Given the description of an element on the screen output the (x, y) to click on. 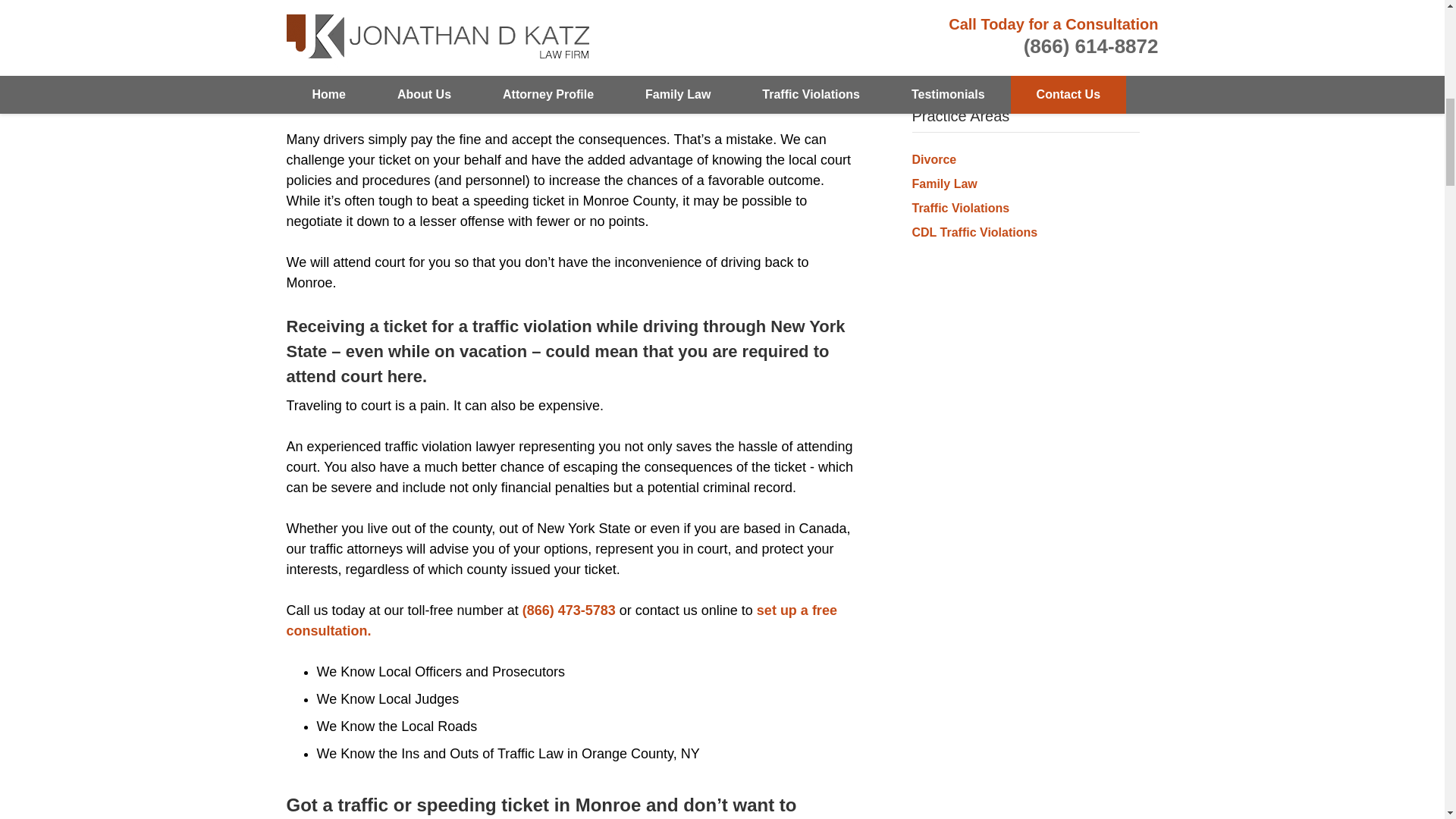
CDL Traffic Violations (973, 232)
Family Law (943, 183)
Traffic Violations (960, 207)
CONTACT US NOW (1024, 30)
Practice Areas (960, 115)
Divorce (933, 159)
set up a free consultation. (561, 620)
